Given the description of an element on the screen output the (x, y) to click on. 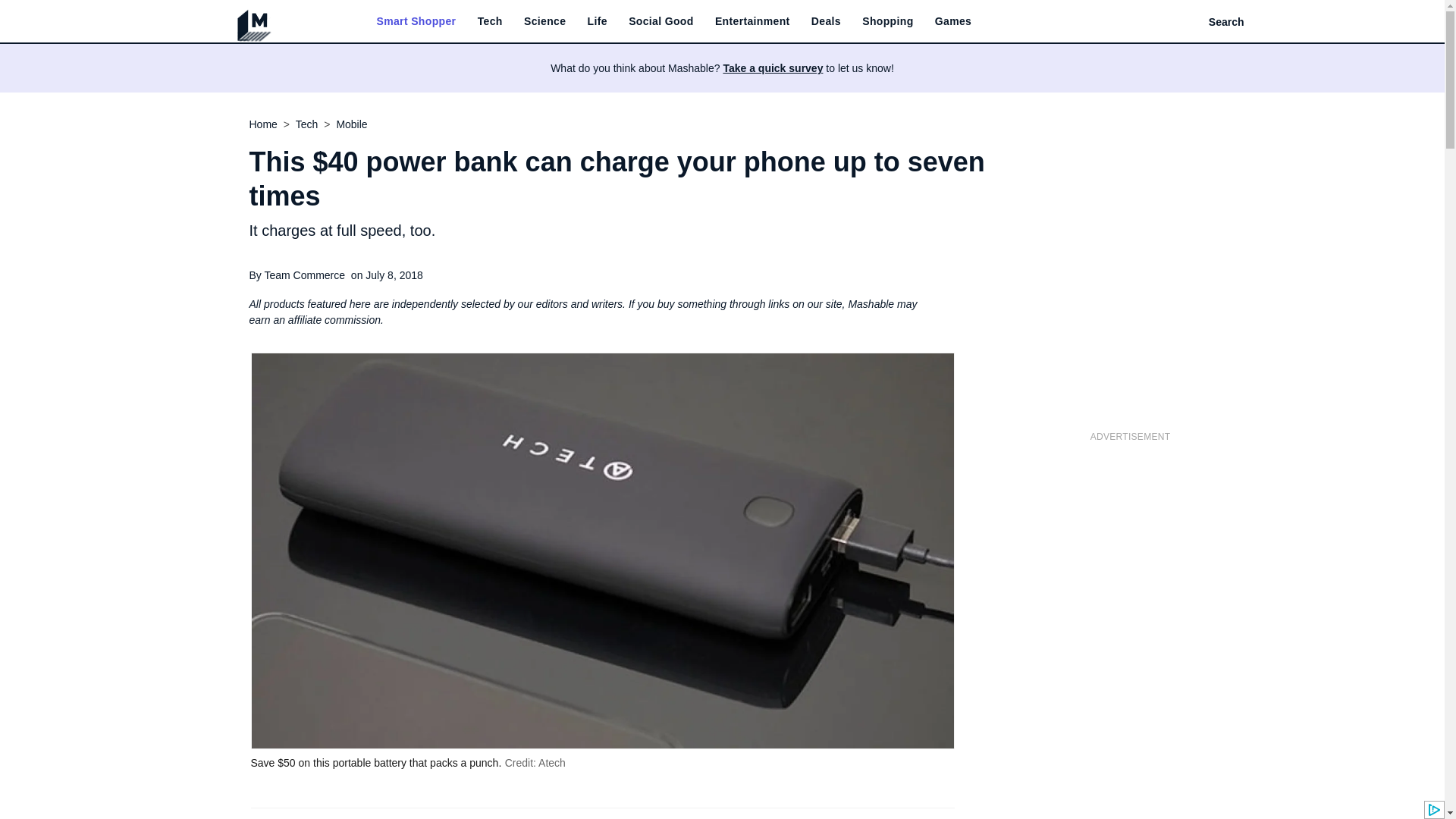
Tech (489, 21)
Games (952, 21)
Science (545, 21)
Smart Shopper (415, 21)
Deals (825, 21)
Shopping (886, 21)
Entertainment (752, 21)
Social Good (661, 21)
Life (597, 21)
